Given the description of an element on the screen output the (x, y) to click on. 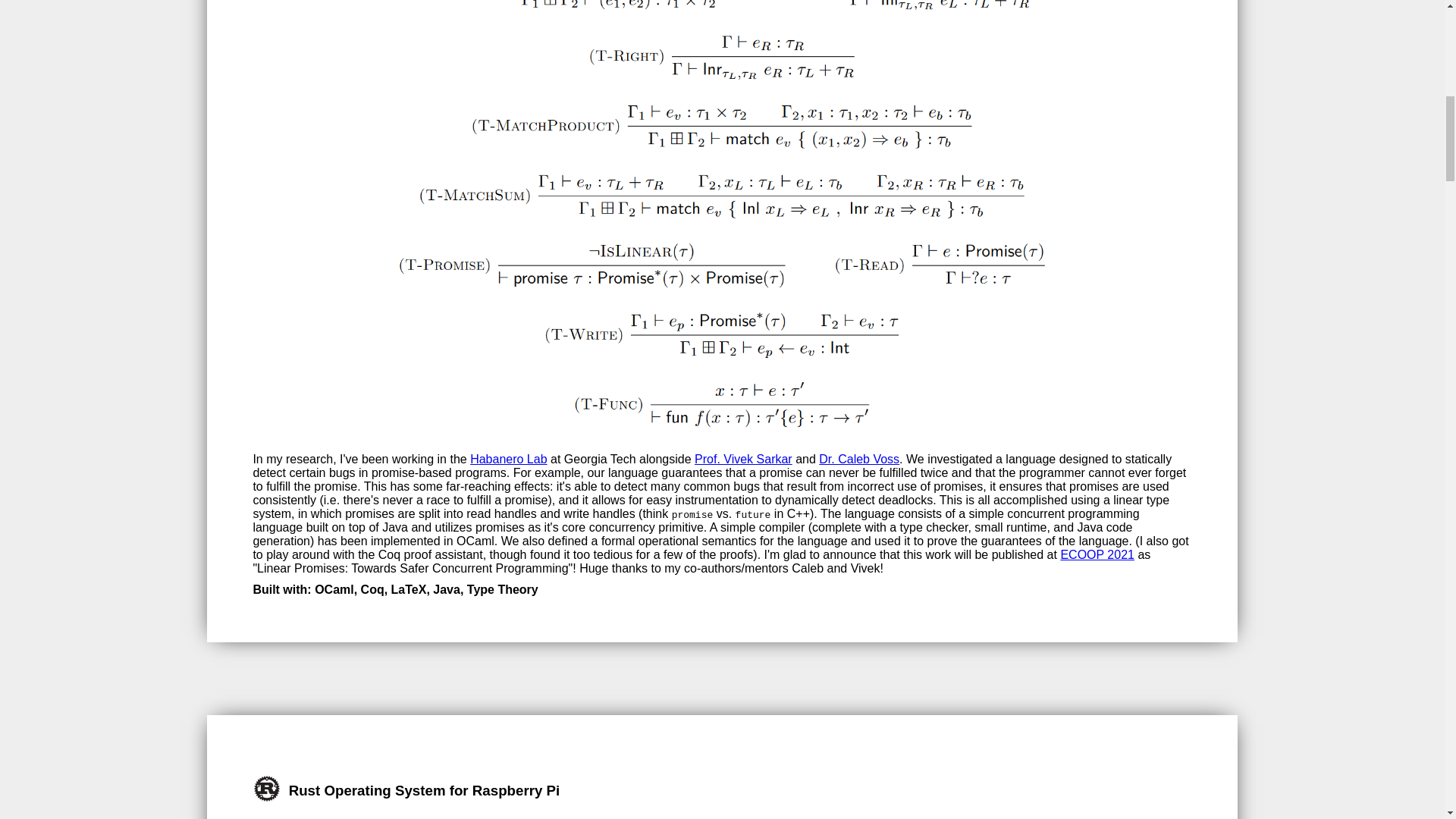
Prof. Vivek Sarkar (743, 459)
ECOOP 2021 (1096, 554)
Dr. Caleb Voss (858, 459)
Habanero Lab (508, 459)
